Given the description of an element on the screen output the (x, y) to click on. 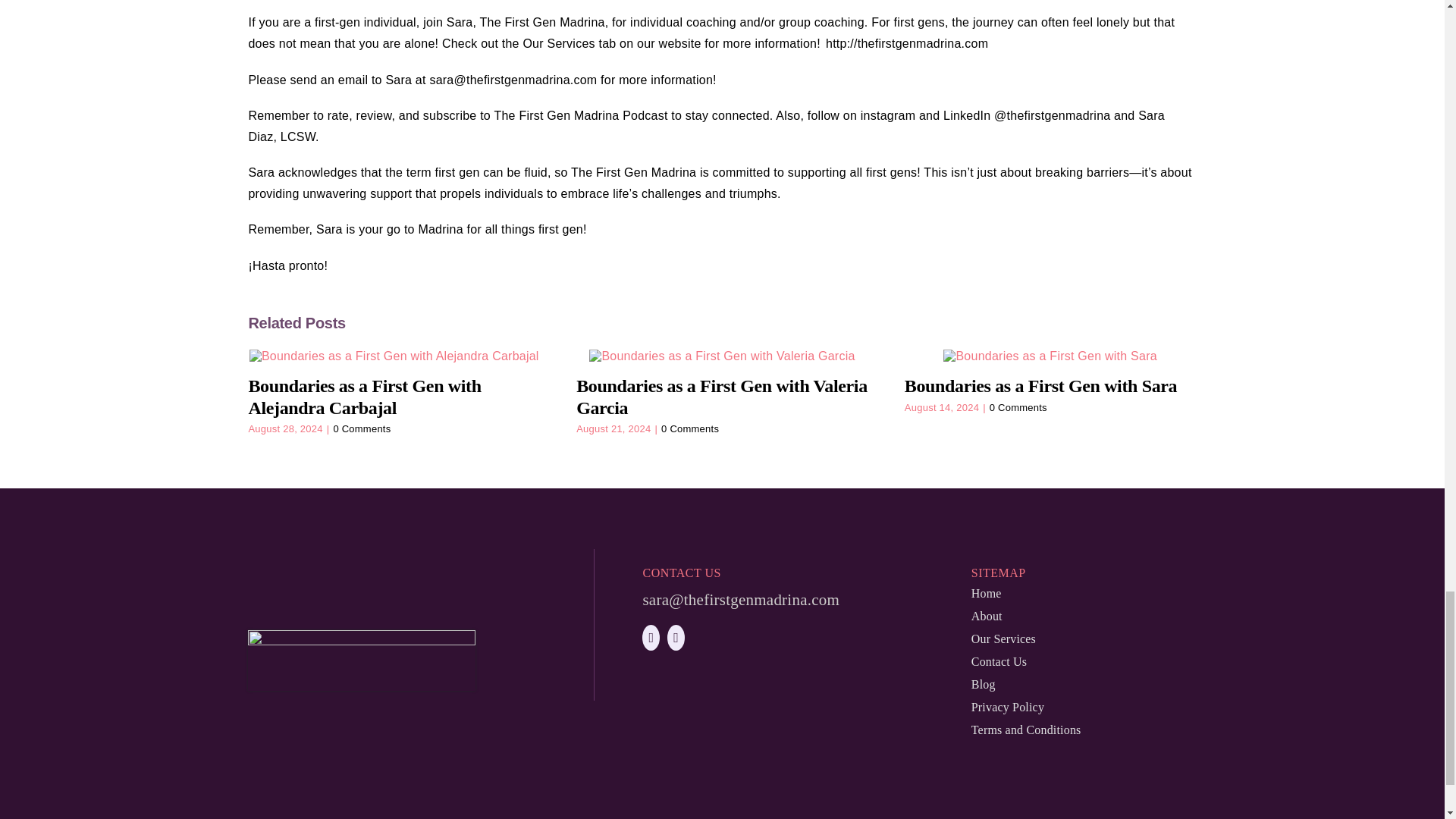
Boundaries as a First Gen with Alejandra Carbajal (363, 396)
Boundaries as a First Gen with Sara (1040, 385)
Boundaries as a First Gen with Valeria Garcia (721, 396)
Boundaries as a First Gen with Alejandra Carbajal (363, 396)
0 Comments (690, 428)
Boundaries as a First Gen with Valeria Garcia (721, 396)
0 Comments (361, 428)
